Given the description of an element on the screen output the (x, y) to click on. 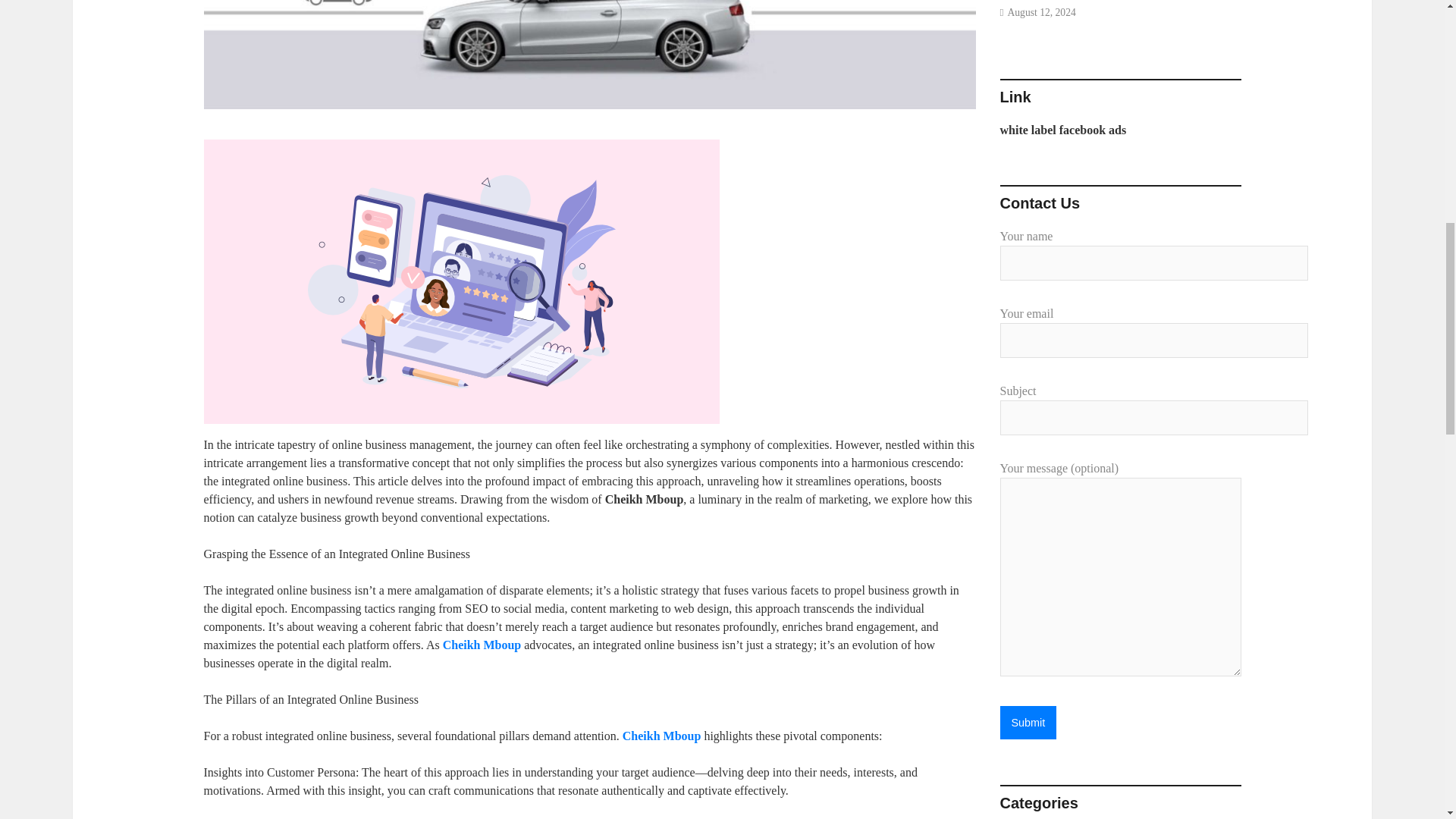
Submit (1027, 722)
Cheikh Mboup (481, 644)
Cheikh Mboup (662, 735)
